Given the description of an element on the screen output the (x, y) to click on. 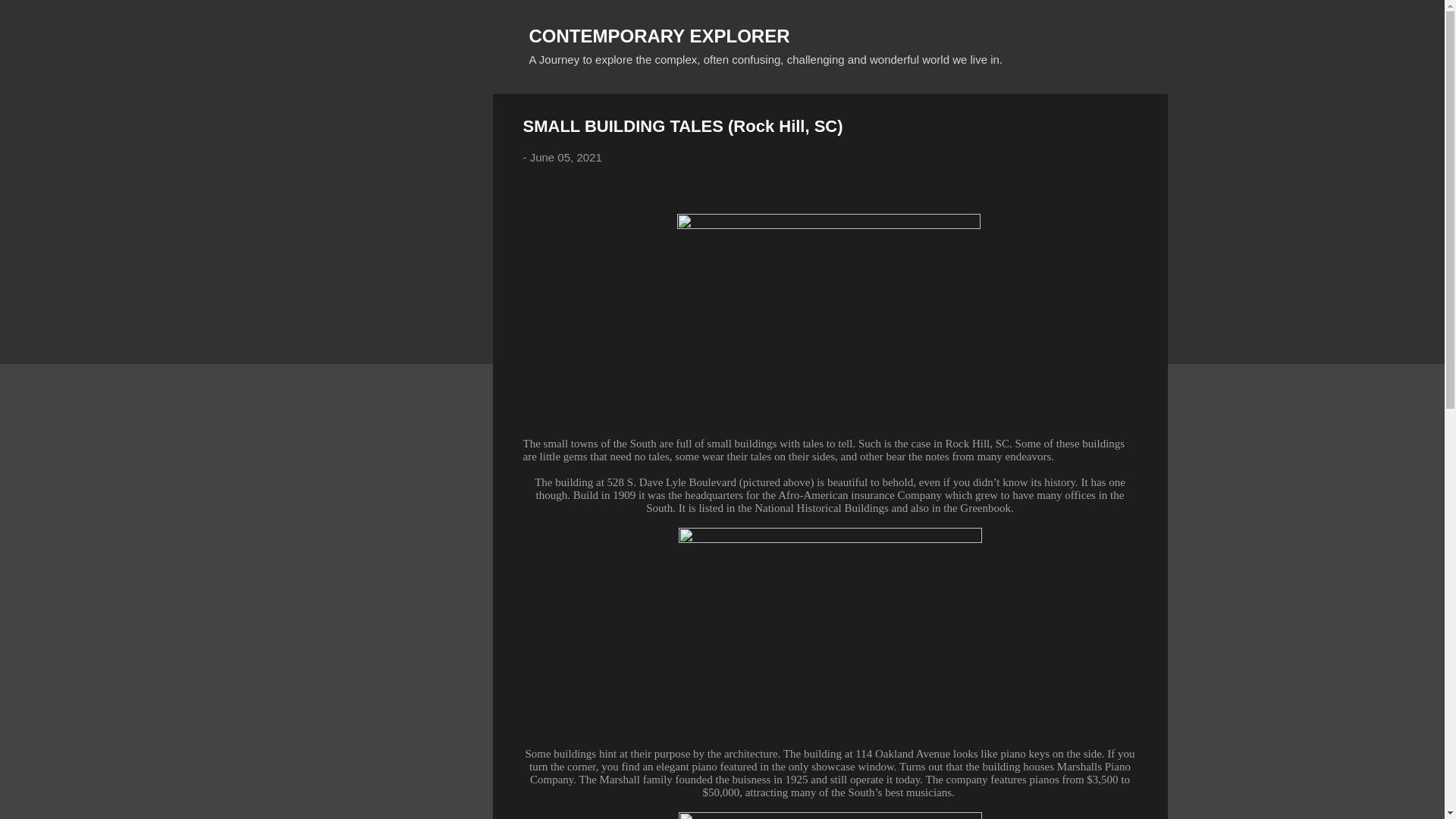
June 05, 2021 (565, 156)
CONTEMPORARY EXPLORER (659, 35)
permanent link (565, 156)
Search (29, 18)
